Given the description of an element on the screen output the (x, y) to click on. 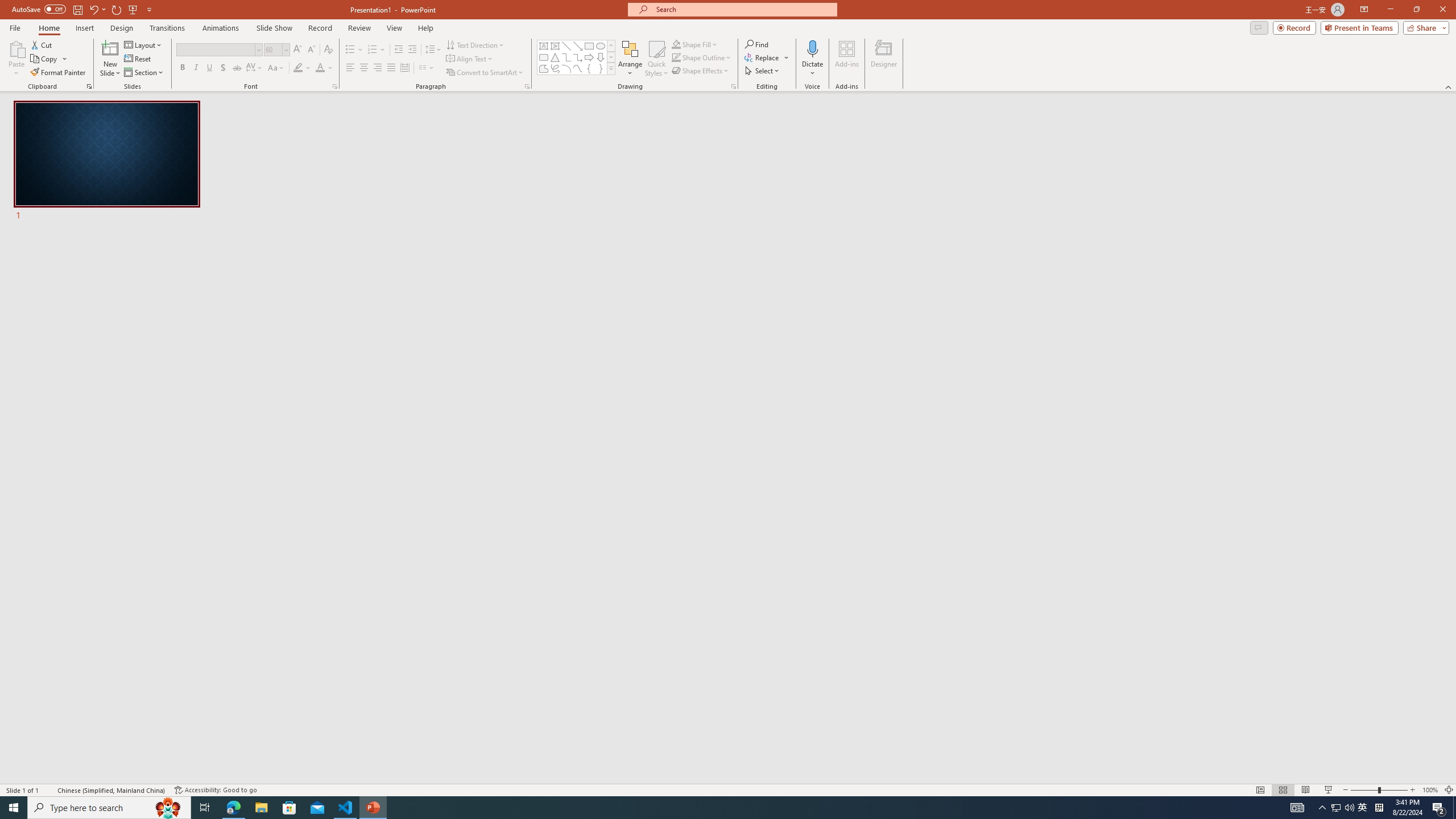
Bullets (349, 49)
Review (359, 28)
Office Clipboard... (88, 85)
Font Color (324, 67)
Collapse the Ribbon (1448, 86)
Copy (45, 58)
Share (1423, 27)
Text Direction (476, 44)
Designer (883, 58)
Find... (756, 44)
Font (219, 49)
Change Case (276, 67)
Arrange (630, 58)
Microsoft search (742, 9)
Freeform: Shape (543, 68)
